Given the description of an element on the screen output the (x, y) to click on. 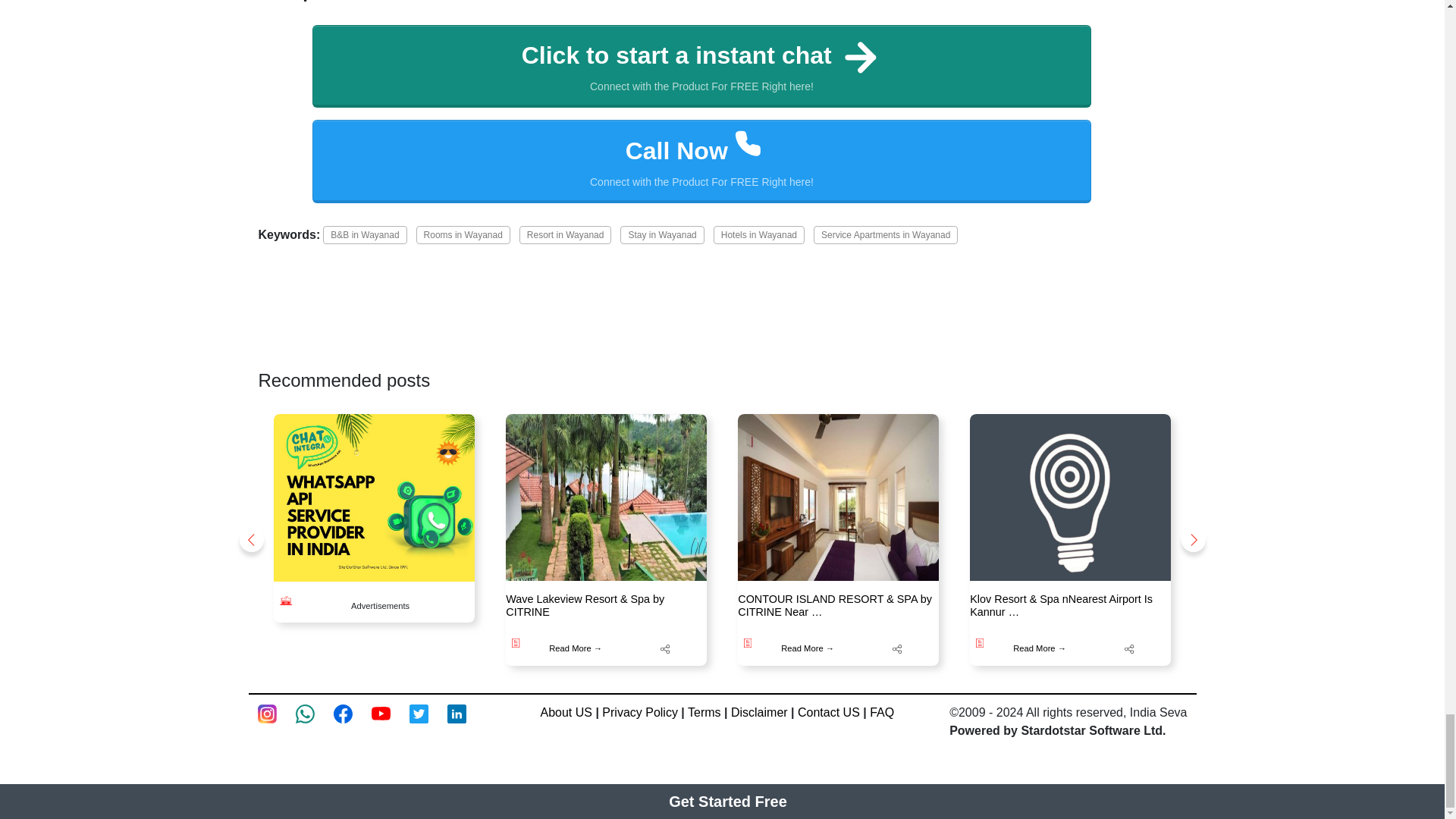
Hotels in Wayanad (759, 235)
Service Apartments in Wayanad (702, 161)
Stay in Wayanad (885, 235)
Rooms in Wayanad (661, 235)
Resort in Wayanad (463, 235)
Advertisements (565, 235)
